Given the description of an element on the screen output the (x, y) to click on. 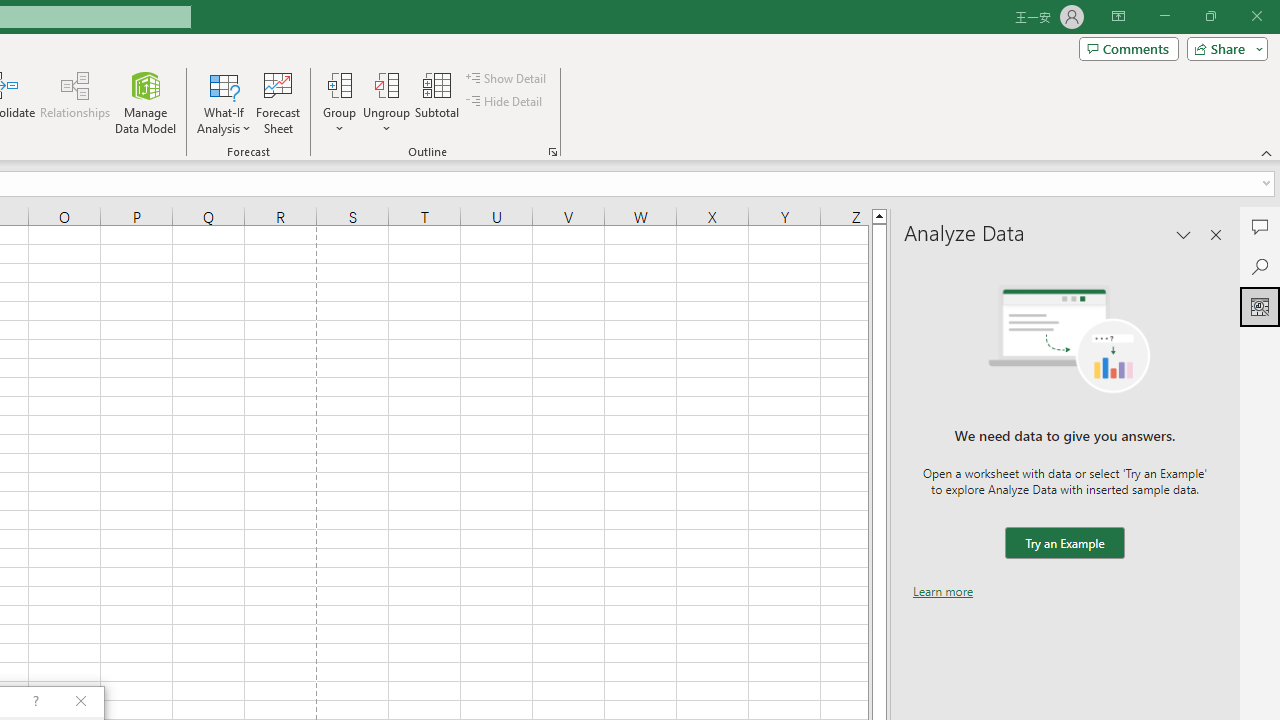
We need data to give you answers. Try an Example (1064, 543)
